Given the description of an element on the screen output the (x, y) to click on. 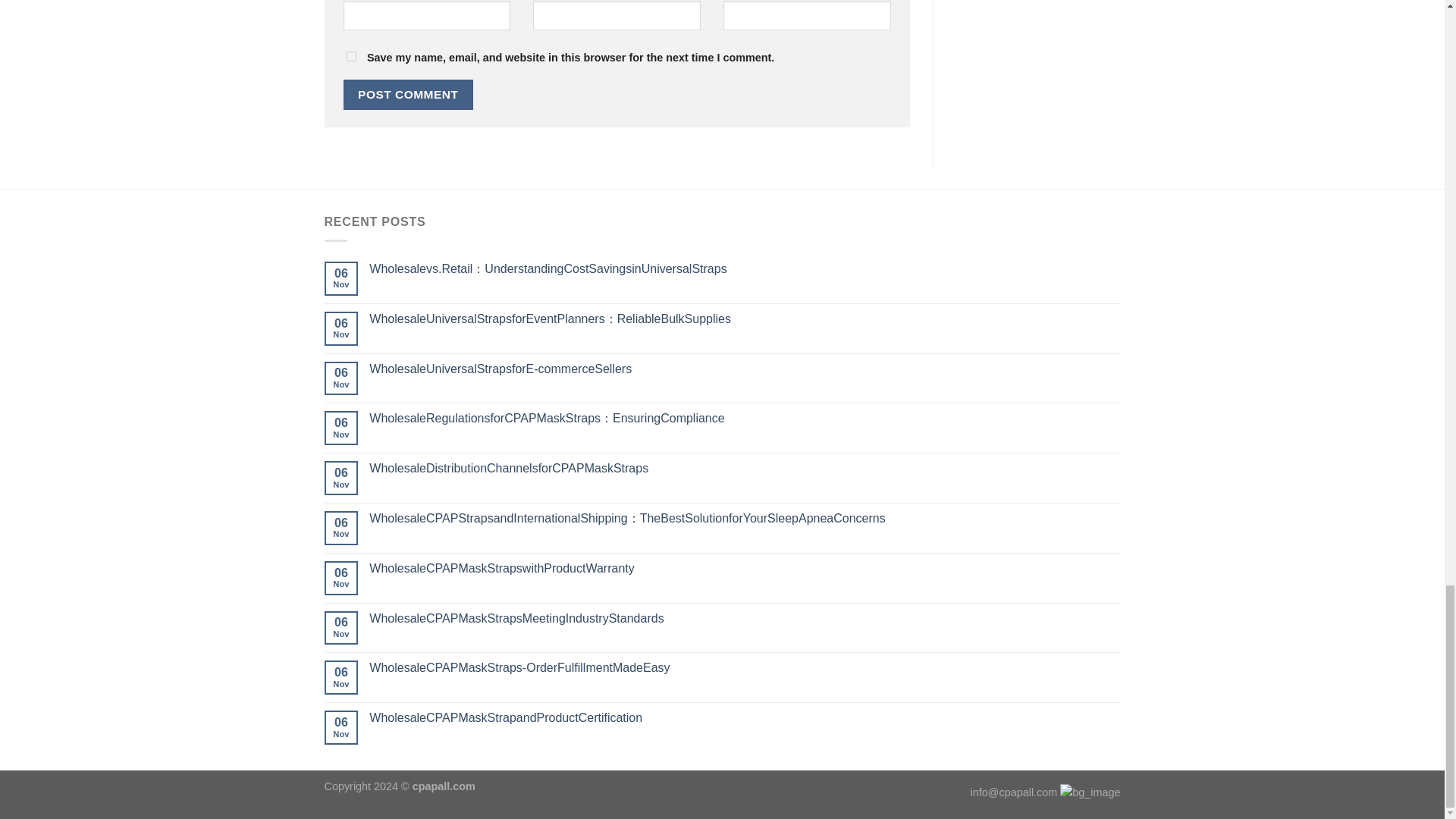
Post Comment (407, 93)
WholesaleDistributionChannelsforCPAPMaskStraps (744, 468)
WholesaleUniversalStrapsforE-commerceSellers (744, 368)
Post Comment (407, 93)
yes (350, 56)
